Given the description of an element on the screen output the (x, y) to click on. 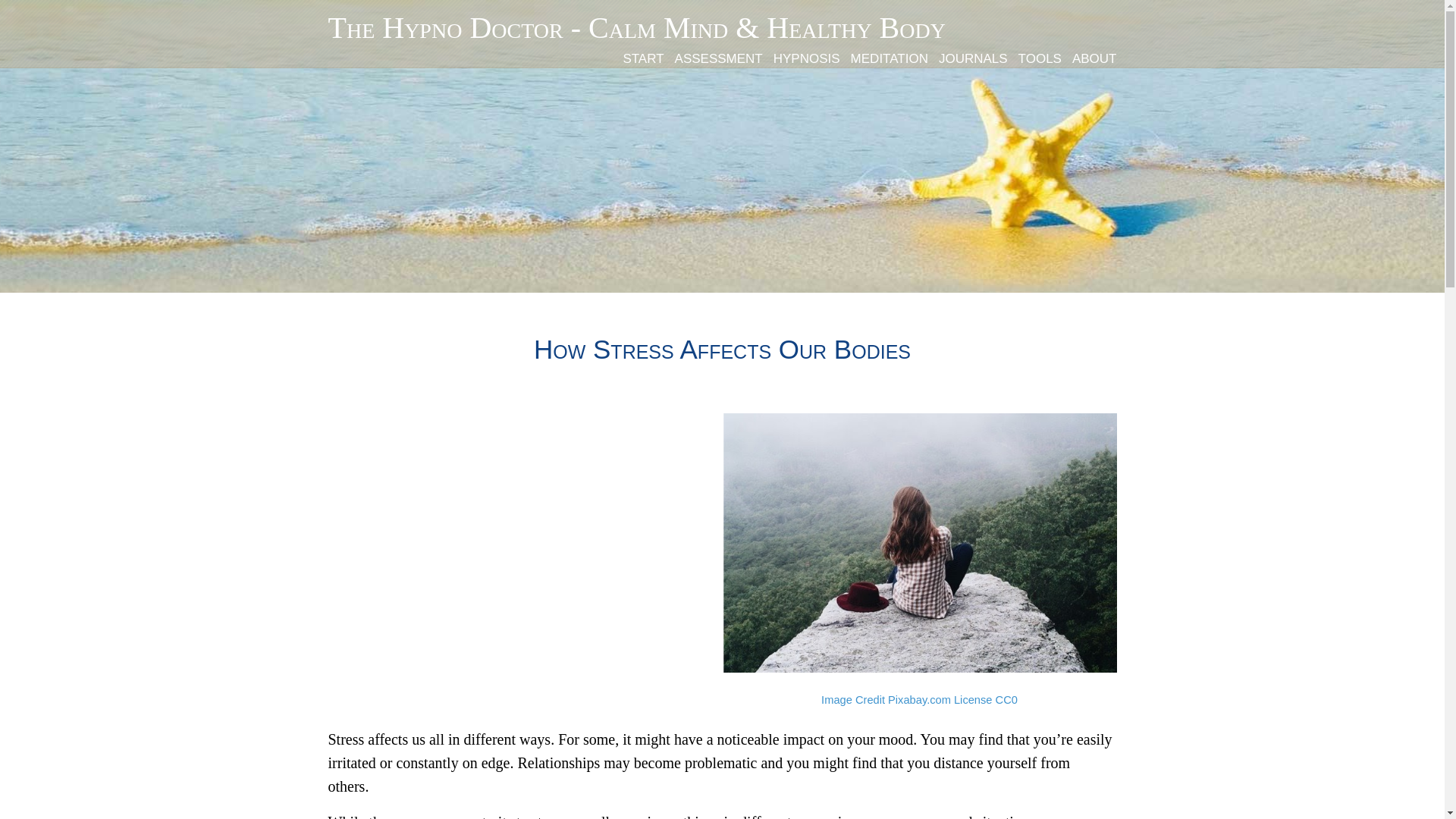
about (1088, 56)
hypnosis (801, 56)
meditation (884, 56)
assessment (712, 56)
start (637, 56)
Image Credit Pixabay.com License CC0 (919, 699)
journals (967, 56)
